Given the description of an element on the screen output the (x, y) to click on. 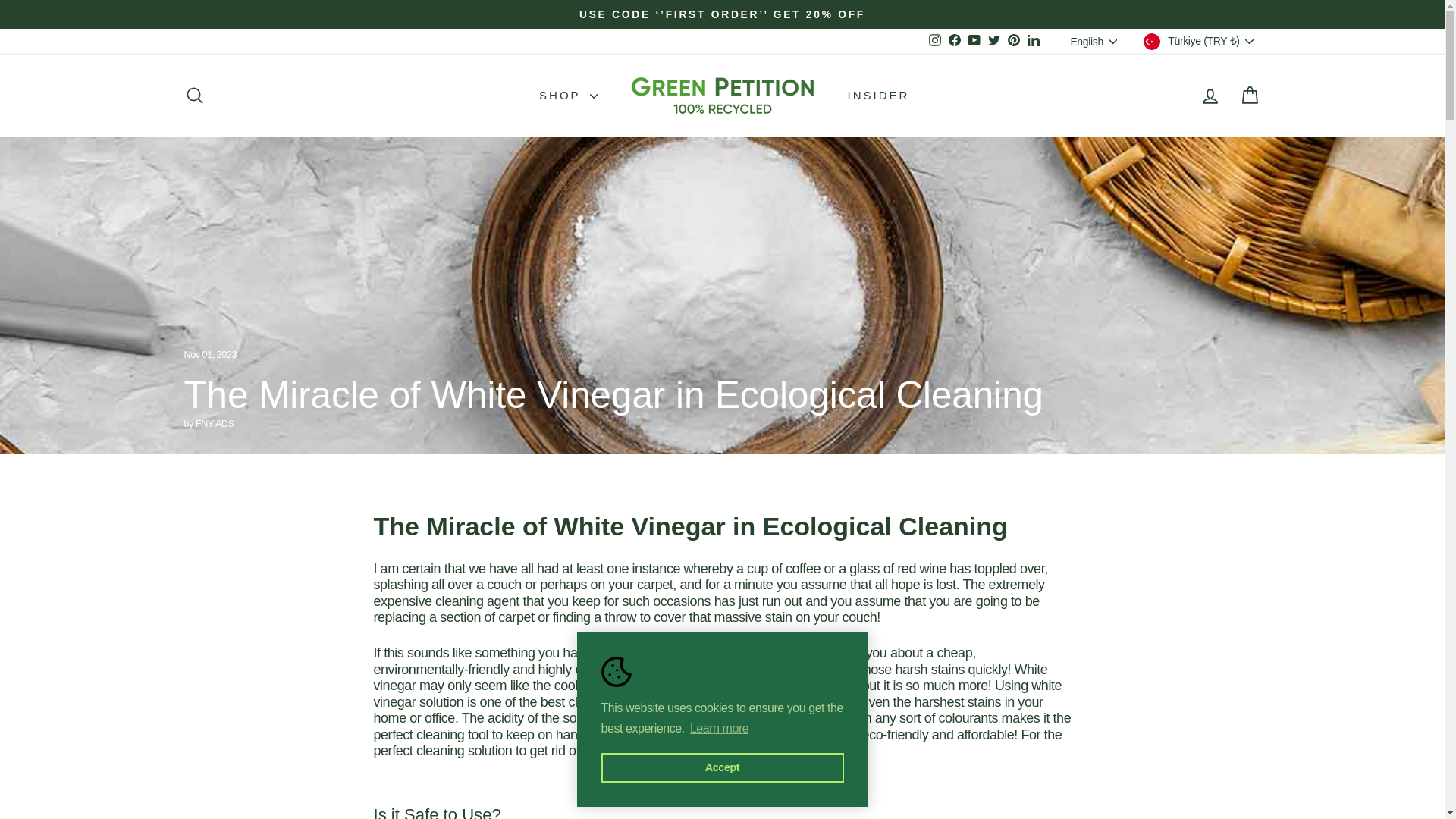
twitter (994, 39)
Accept (721, 767)
Green Petition on YouTube (973, 40)
ACCOUNT (1210, 96)
instagram (934, 39)
Green Petition on Twitter (994, 40)
Green Petition on Instagram (934, 40)
Green Petition on Facebook (953, 40)
ICON-SEARCH (194, 95)
Learn more (719, 728)
